Given the description of an element on the screen output the (x, y) to click on. 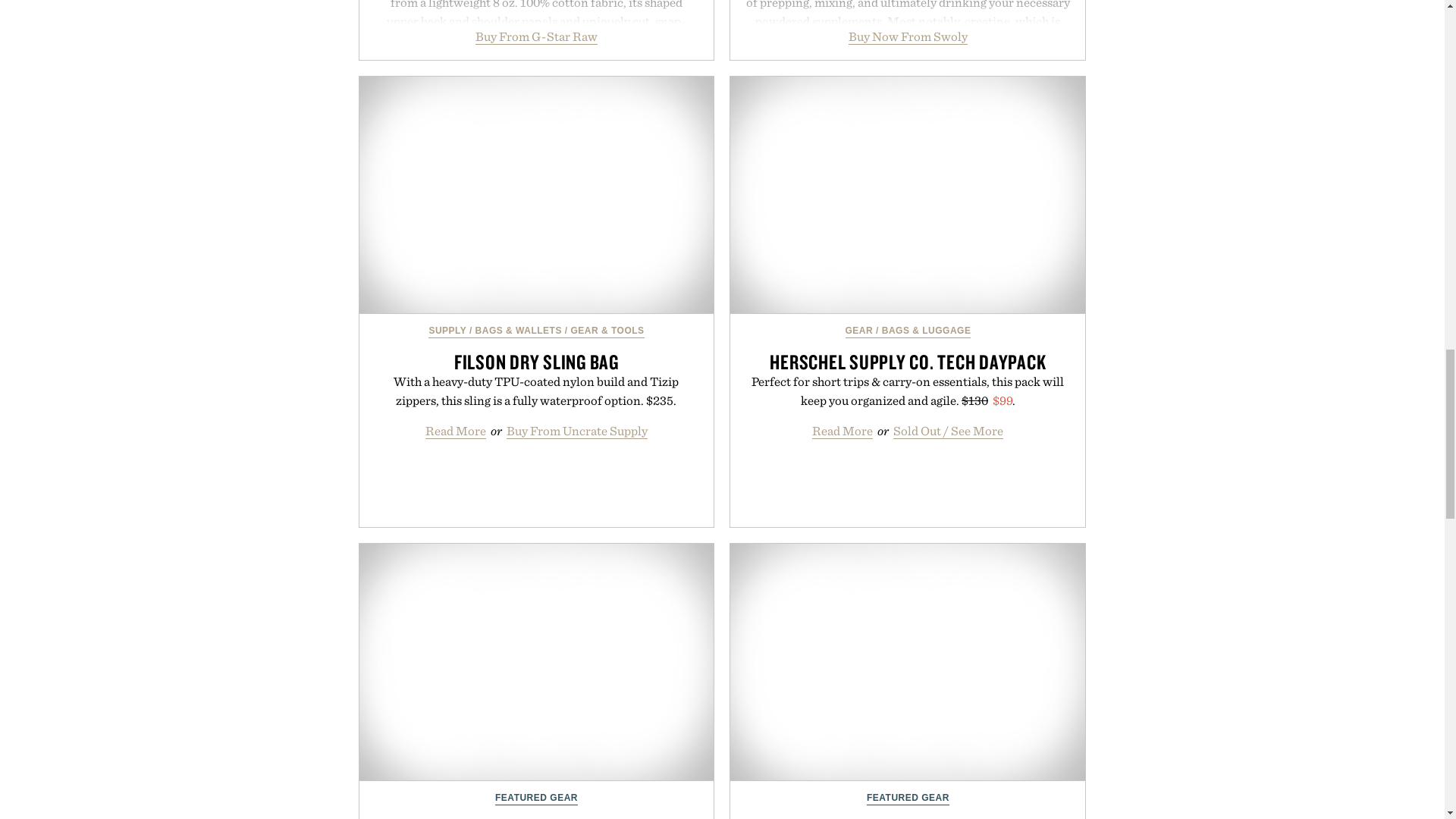
Filson Dry Sling Bag (536, 194)
